Given the description of an element on the screen output the (x, y) to click on. 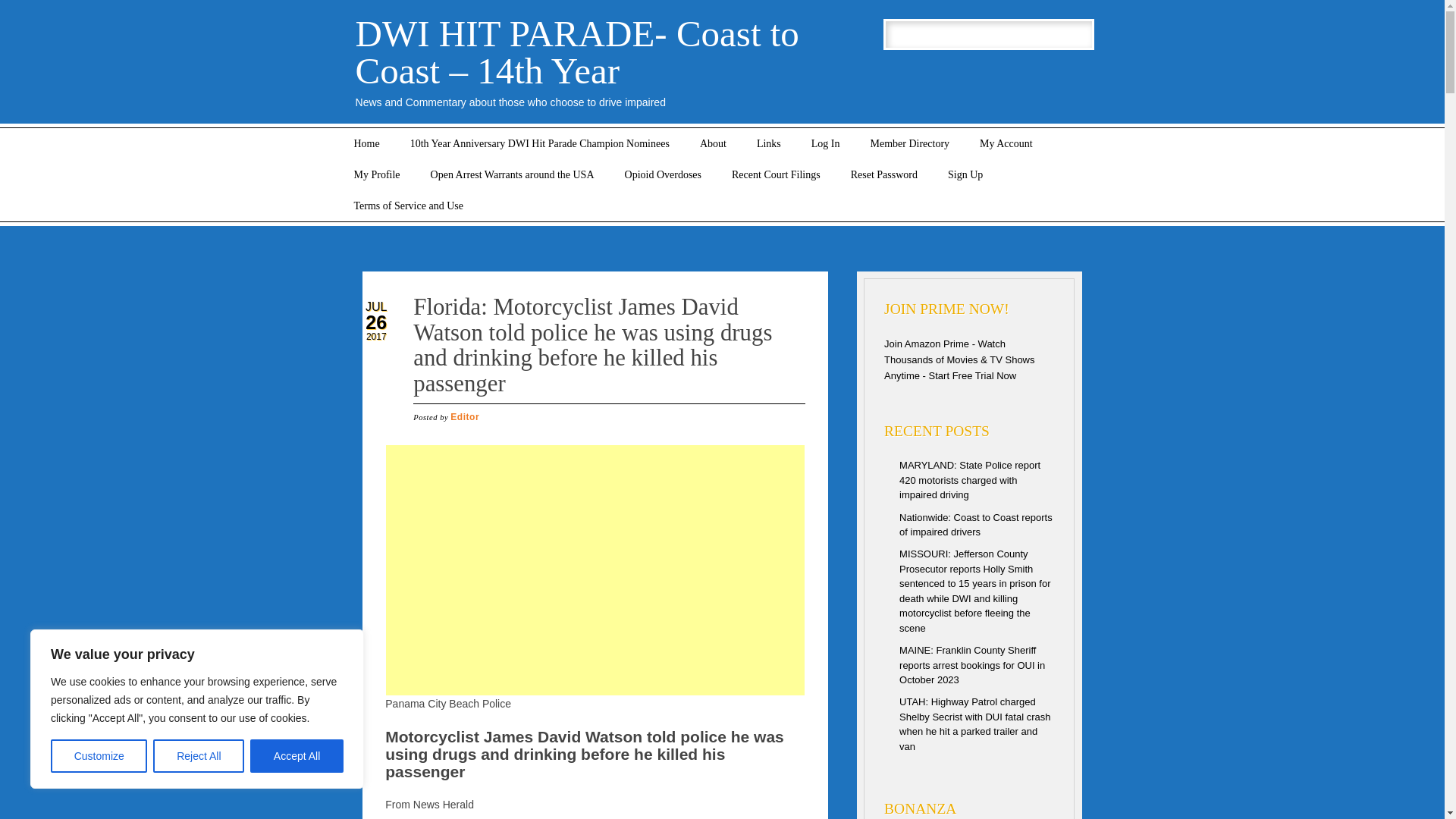
Accept All (296, 756)
My Account (1005, 142)
Sign Up (965, 174)
Search (22, 8)
Home (365, 142)
Recent Court Filings (775, 174)
Open Arrest Warrants around the USA (512, 174)
Member Directory (910, 142)
View all posts by Editor (464, 416)
Links (768, 142)
